Given the description of an element on the screen output the (x, y) to click on. 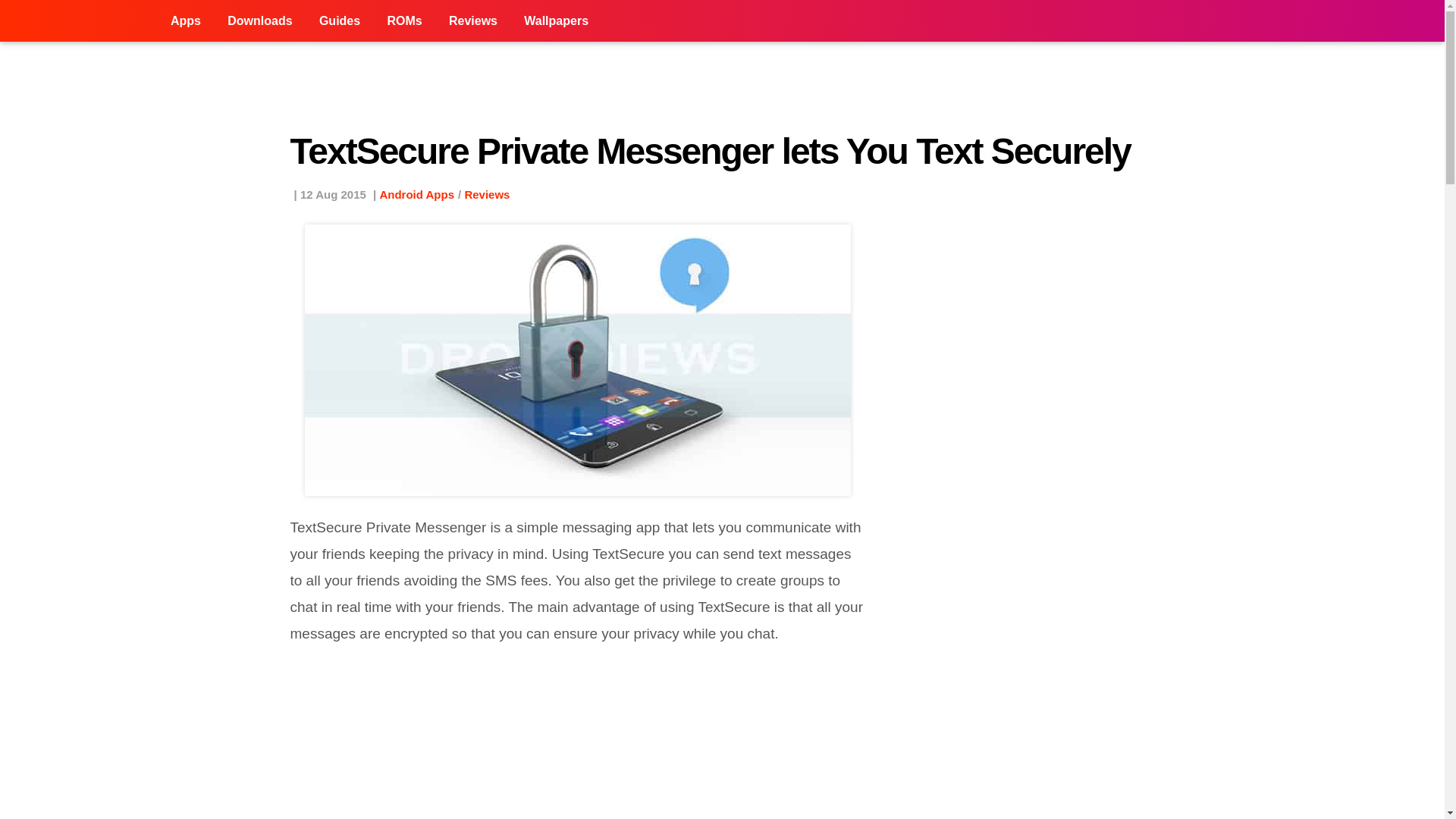
ROMs (403, 20)
Android Apps (416, 194)
DroidViews (79, 20)
Apps (185, 20)
Wallpapers (555, 20)
Downloads (258, 20)
Reviews (486, 194)
Reviews (473, 20)
Guides (339, 20)
